Given the description of an element on the screen output the (x, y) to click on. 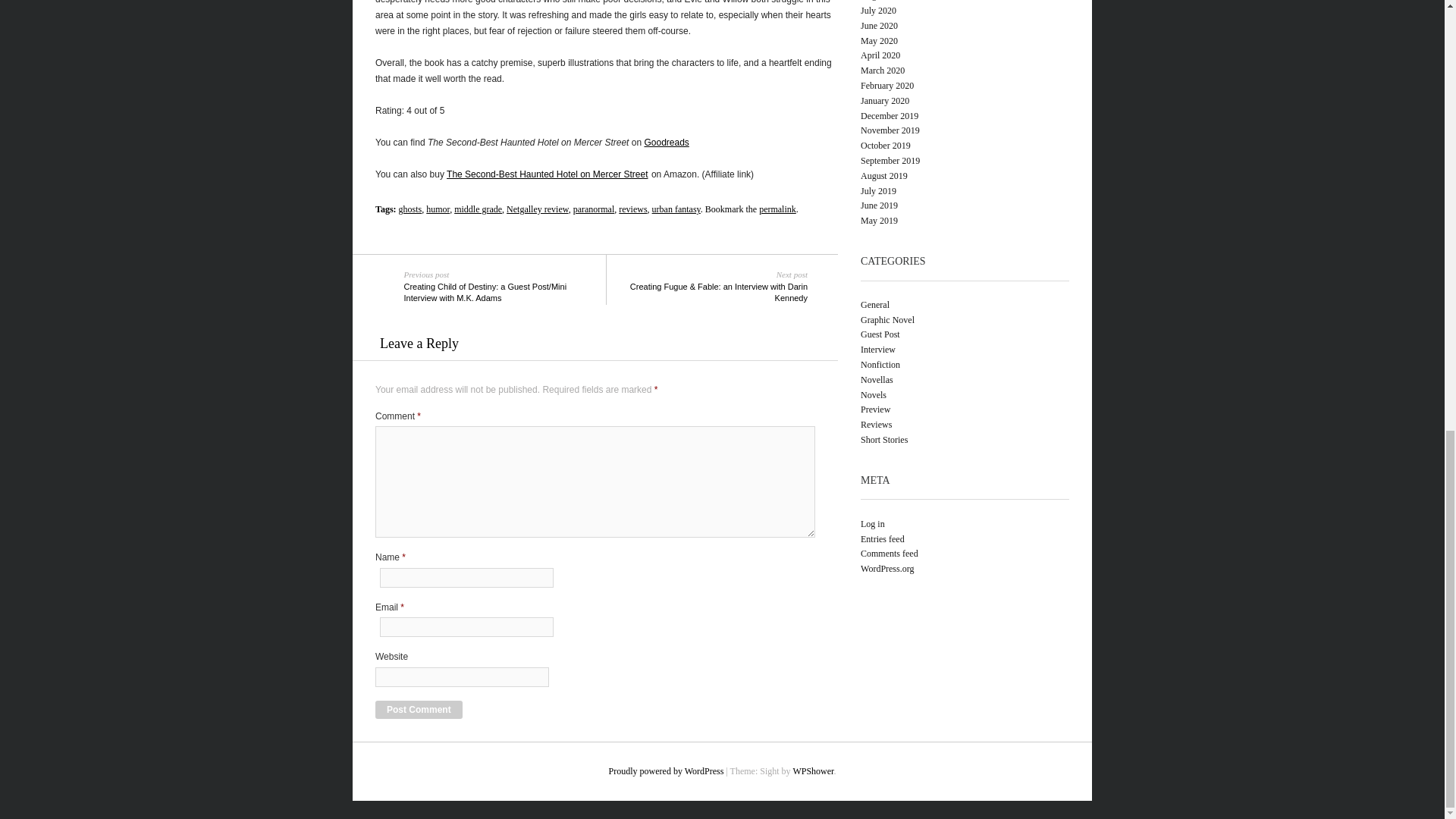
Post Comment (419, 710)
paranormal (593, 208)
ghosts (410, 208)
permalink (777, 208)
middle grade (478, 208)
reviews (632, 208)
urban fantasy (676, 208)
Netgalley review (537, 208)
Post Comment (419, 710)
A Semantic Personal Publishing Platform (665, 770)
Goodreads (665, 142)
humor (437, 208)
The Second-Best Haunted Hotel on Mercer Street (546, 173)
